Given the description of an element on the screen output the (x, y) to click on. 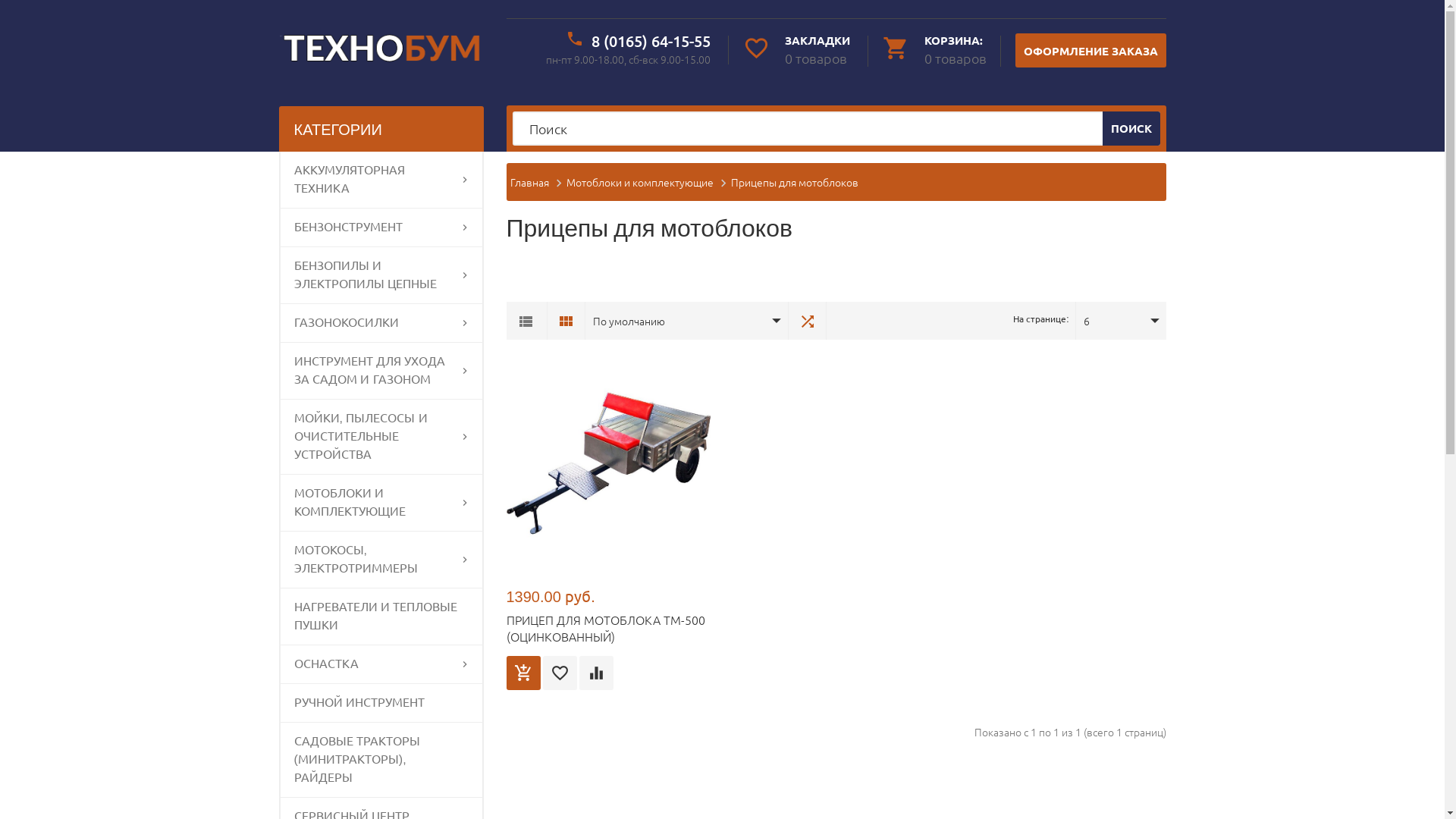
8 (0165) 64-15-55 Element type: text (650, 40)
6 Element type: text (1108, 320)
